Given the description of an element on the screen output the (x, y) to click on. 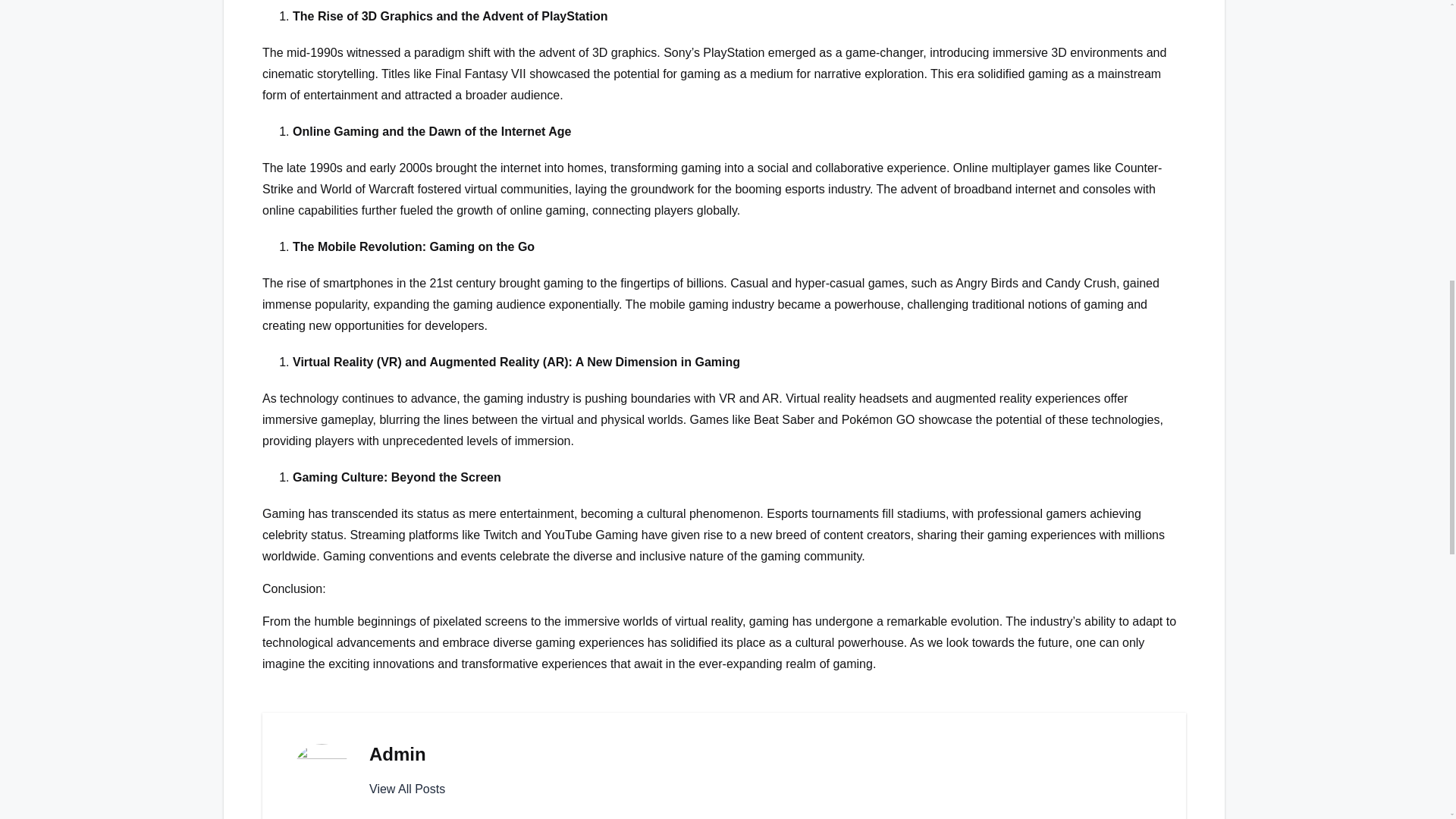
Admin (397, 753)
View All Posts (407, 789)
